Given the description of an element on the screen output the (x, y) to click on. 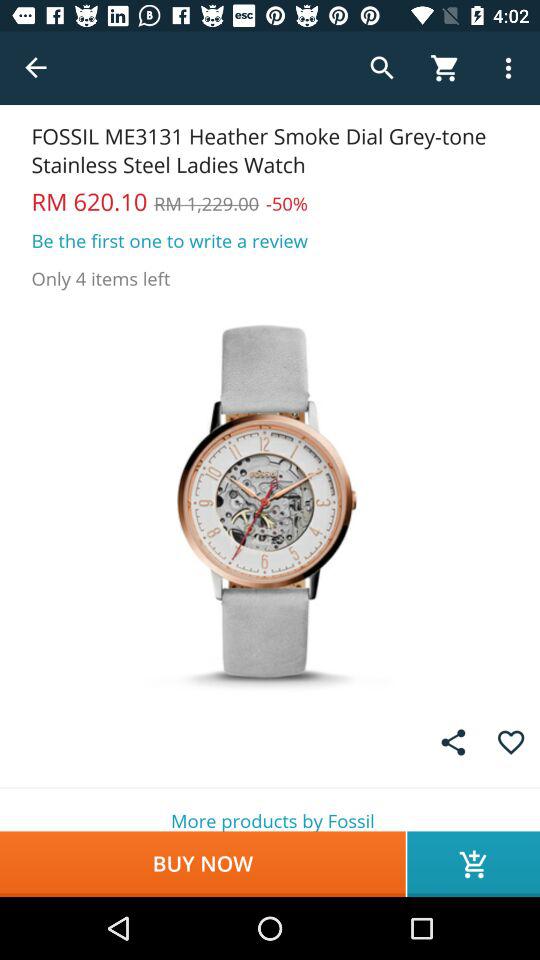
share icon (453, 742)
